Given the description of an element on the screen output the (x, y) to click on. 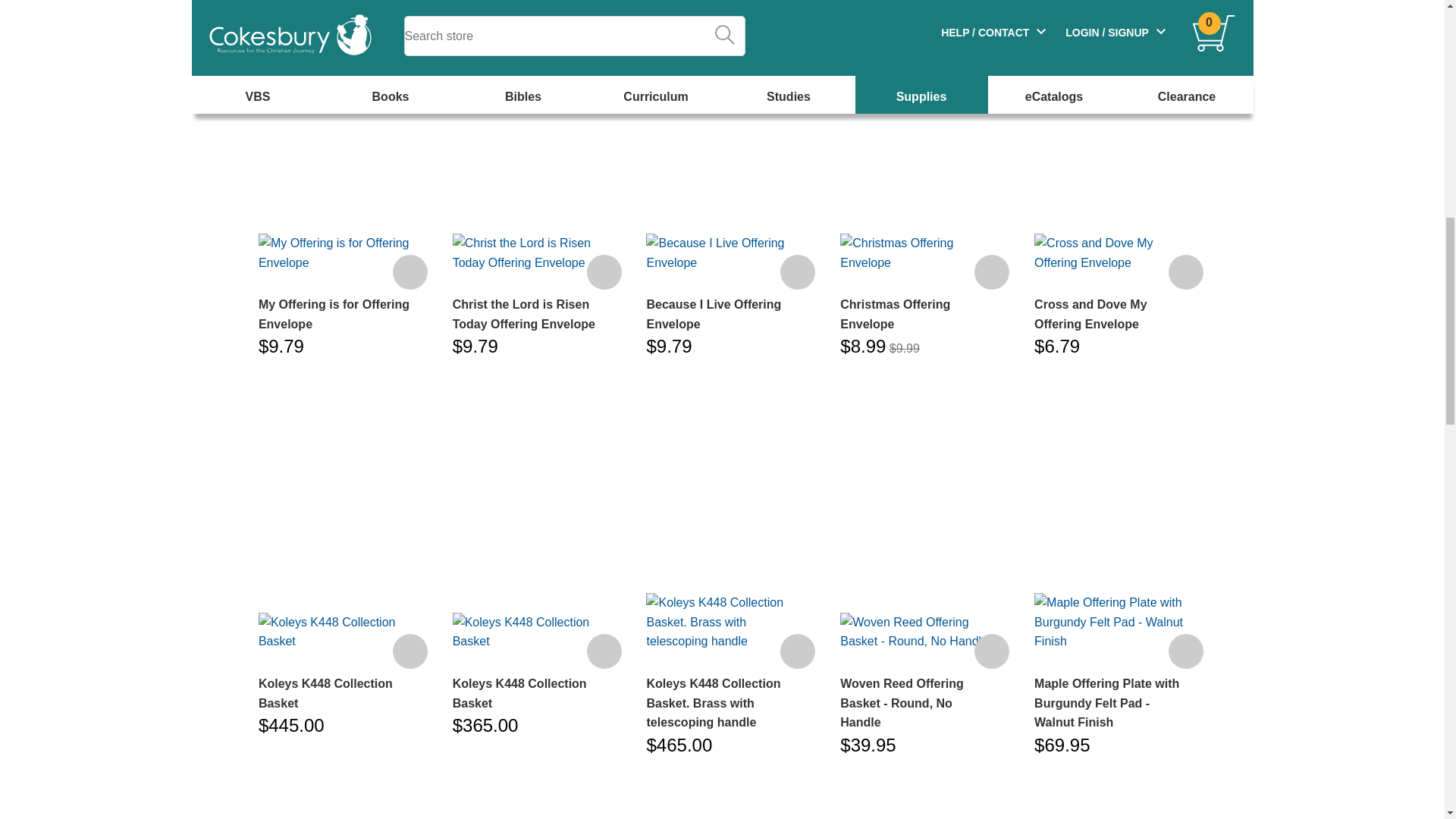
Add To Cart (603, 651)
Add To Cart (797, 271)
Add To Cart (603, 271)
Add To Cart (410, 271)
Add To Cart (410, 651)
Add To Cart (797, 651)
Add To Cart (991, 271)
Add To Cart (991, 651)
